Given the description of an element on the screen output the (x, y) to click on. 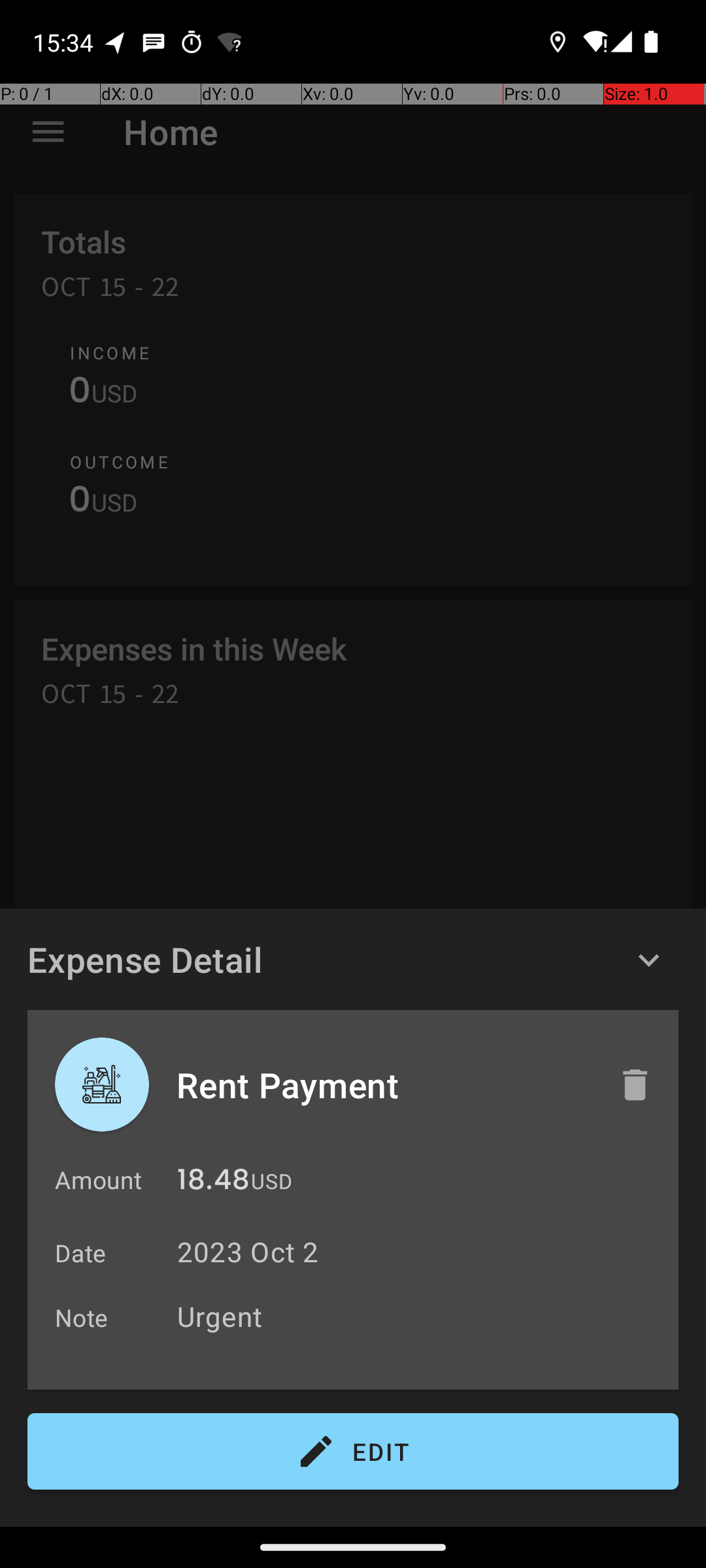
18.48 Element type: android.widget.TextView (213, 1182)
